Given the description of an element on the screen output the (x, y) to click on. 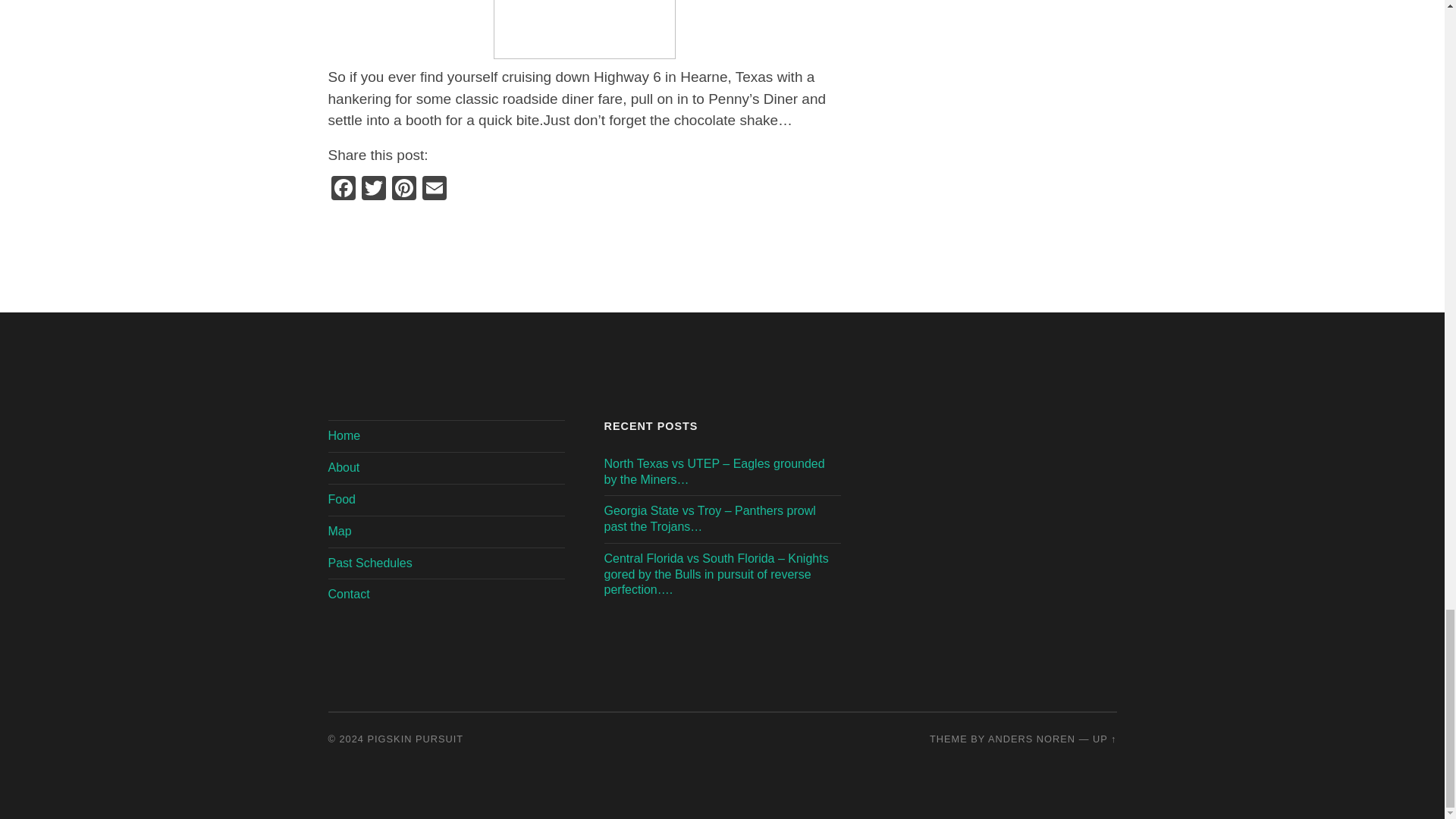
Twitter (373, 189)
Facebook (342, 189)
Pinterest (403, 189)
To the top (1104, 738)
Email (433, 189)
